Given the description of an element on the screen output the (x, y) to click on. 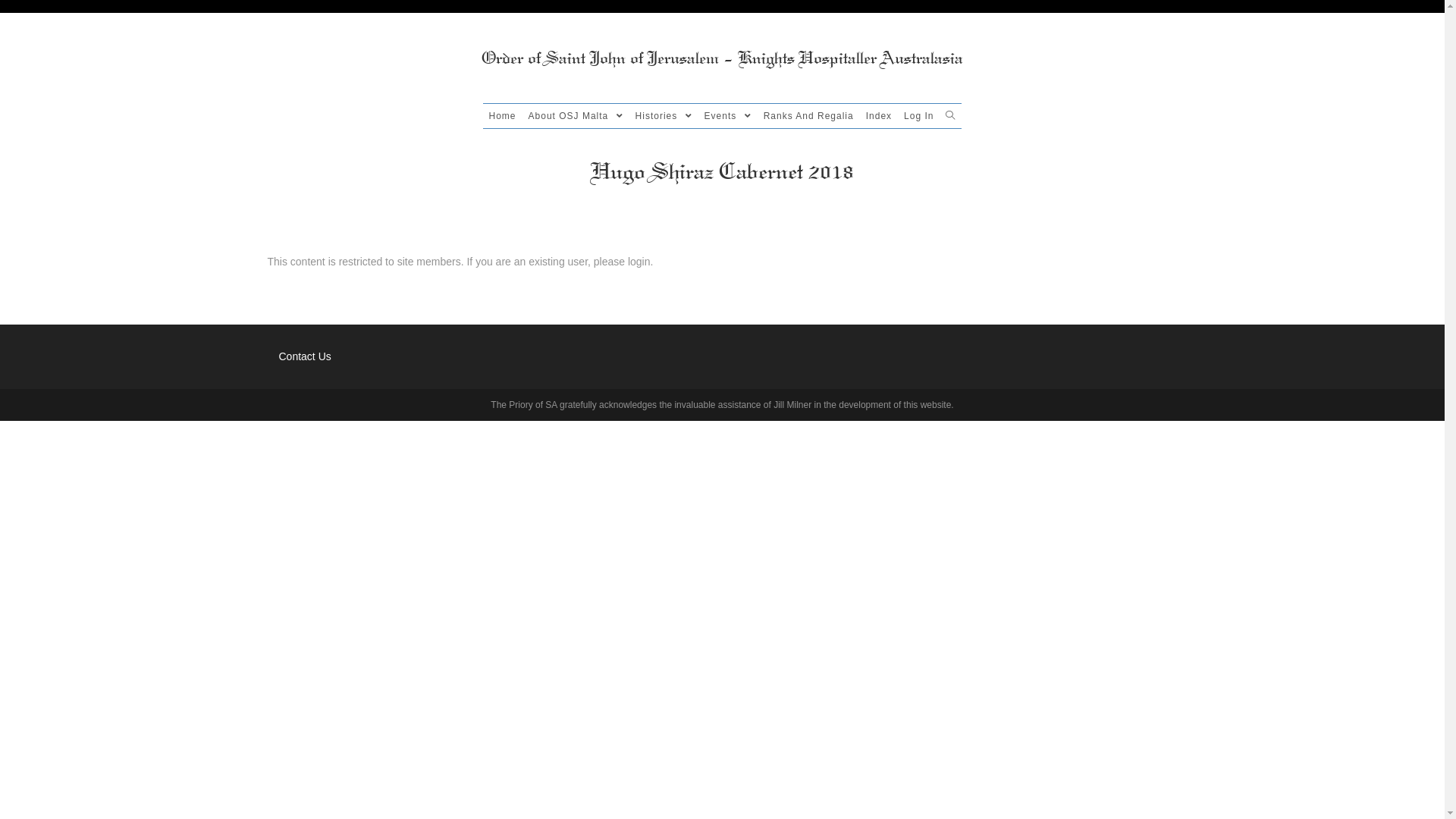
Ranks And Regalia Element type: text (808, 115)
Log In Element type: text (918, 115)
Events Element type: text (727, 115)
About OSJ Malta Element type: text (575, 115)
Home Element type: text (502, 115)
Contact Us Element type: text (305, 356)
Histories Element type: text (663, 115)
Index Element type: text (878, 115)
